Given the description of an element on the screen output the (x, y) to click on. 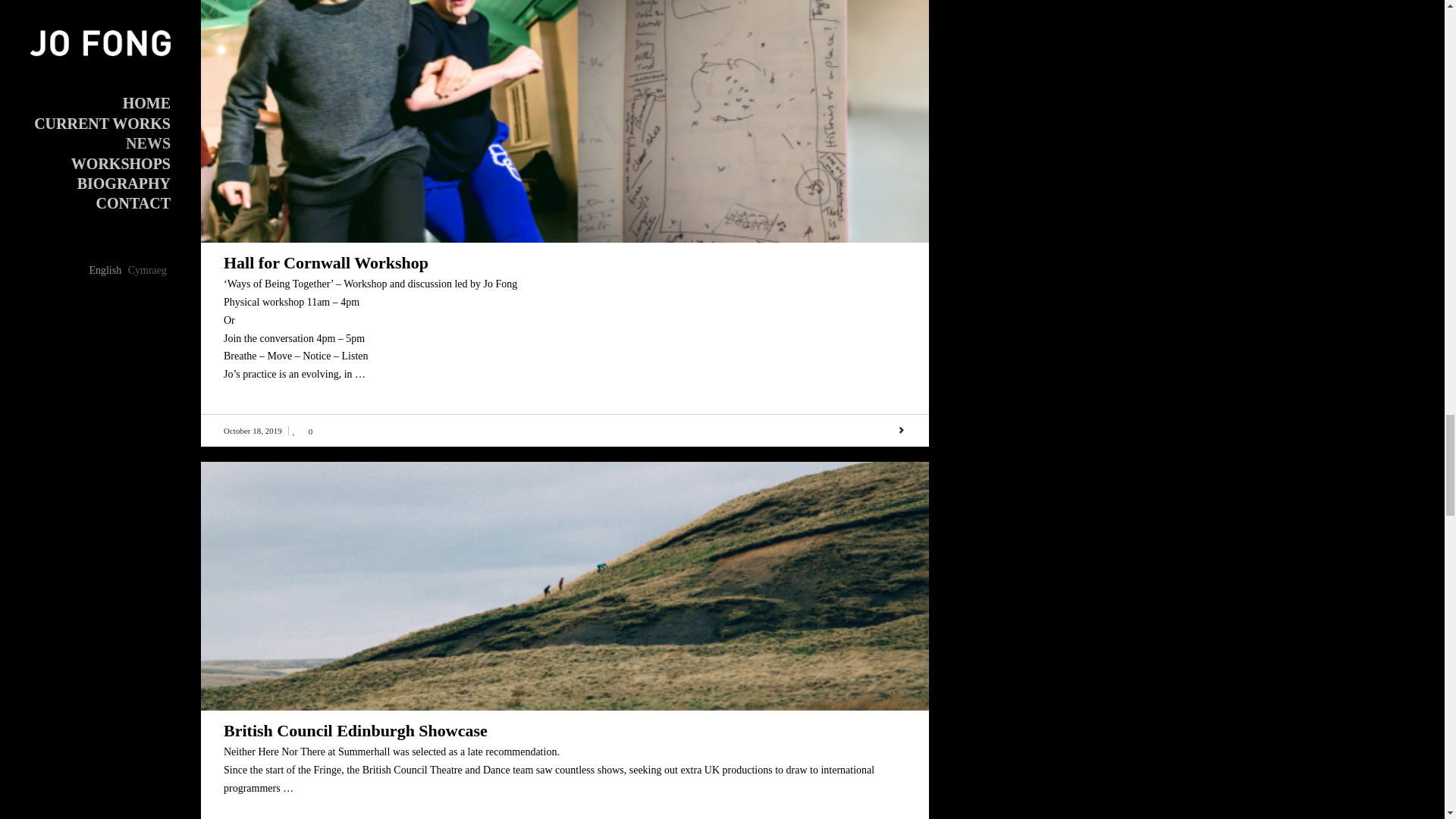
0 (302, 429)
Hall for Cornwall Workshop (326, 262)
British Council Edinburgh Showcase (355, 730)
